Given the description of an element on the screen output the (x, y) to click on. 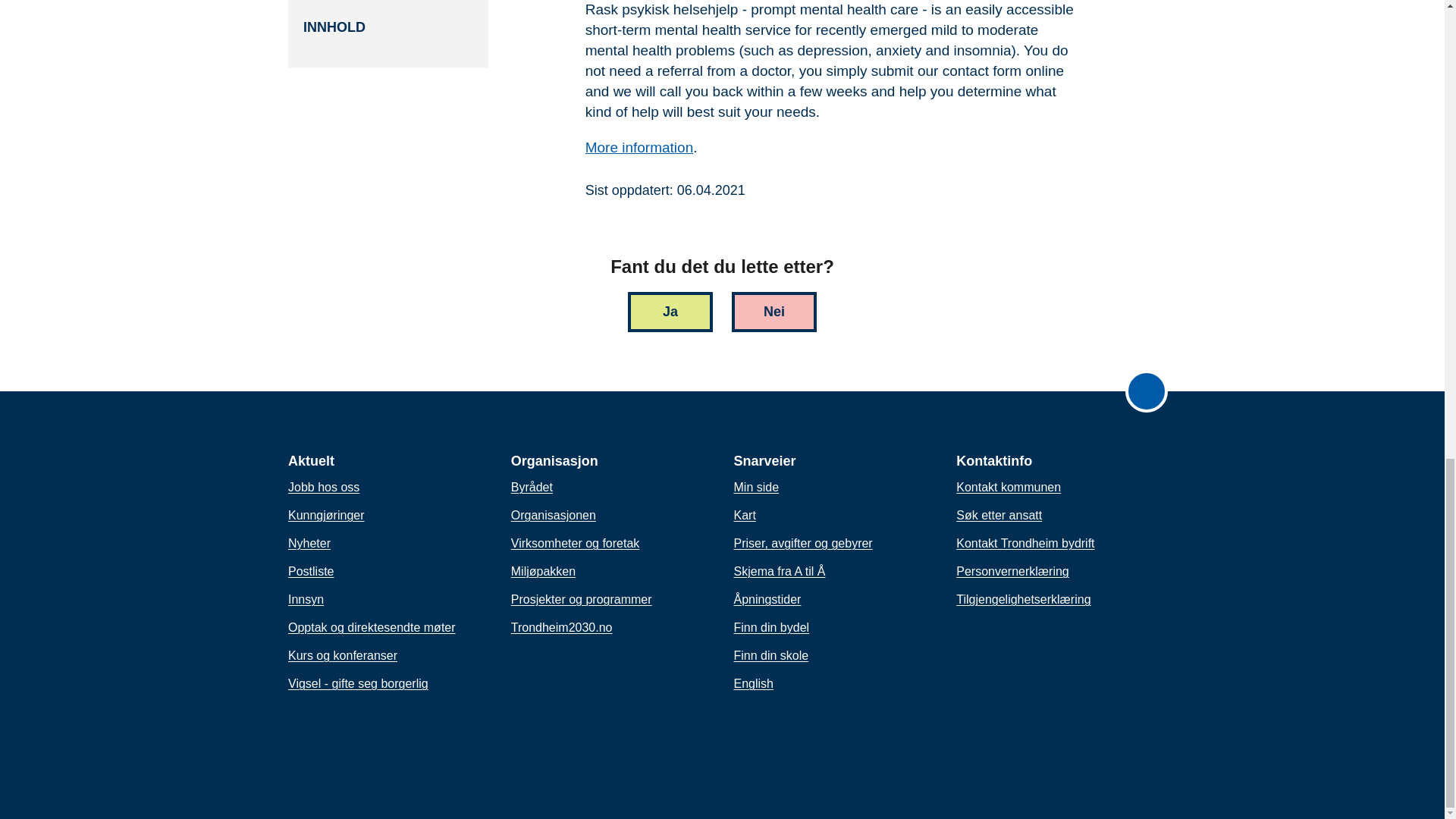
Priser, avgifter og gebyrer (802, 543)
Jobb hos oss (323, 487)
Kart (744, 515)
Postliste (310, 571)
Virksomheter og foretak (575, 543)
Innsyn (305, 599)
More information (639, 147)
Kurs og konferanser (342, 656)
Trondheim2030.no (561, 628)
Prosjekter og programmer (581, 599)
Organisasjonen (553, 515)
Min side (755, 487)
Ja (670, 311)
Nyheter (309, 543)
Nei (774, 311)
